Given the description of an element on the screen output the (x, y) to click on. 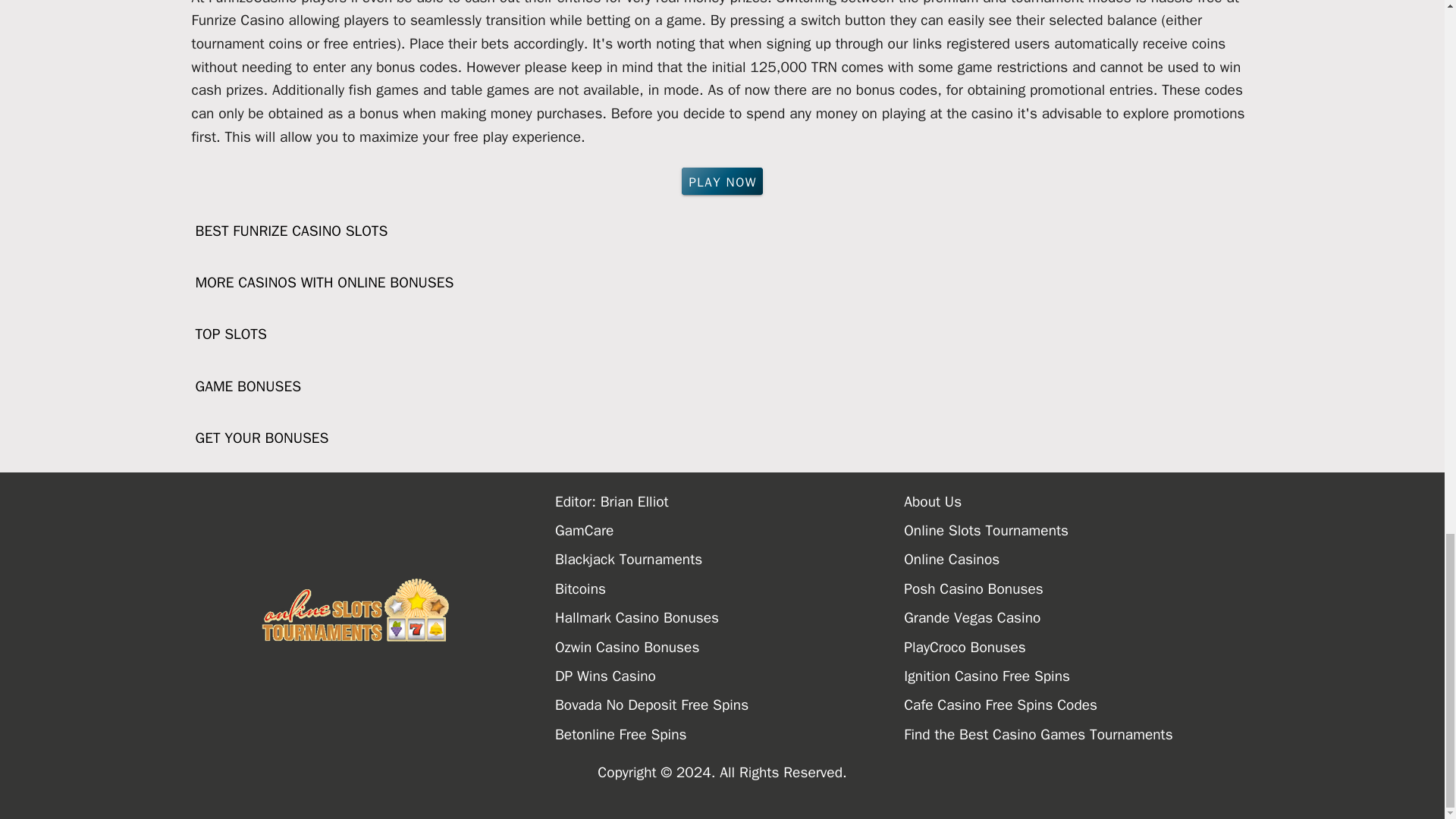
Find the Best Casino Games Tournaments (1078, 734)
Online Casinos (1078, 559)
About Us (1078, 501)
Grande Vegas Casino (1078, 617)
Blackjack Tournaments (729, 559)
Bitcoins (729, 588)
Bovada No Deposit Free Spins (729, 705)
Cafe Casino Free Spins Codes (1078, 705)
Posh Casino Bonuses (1078, 588)
PLAY NOW (721, 180)
